Given the description of an element on the screen output the (x, y) to click on. 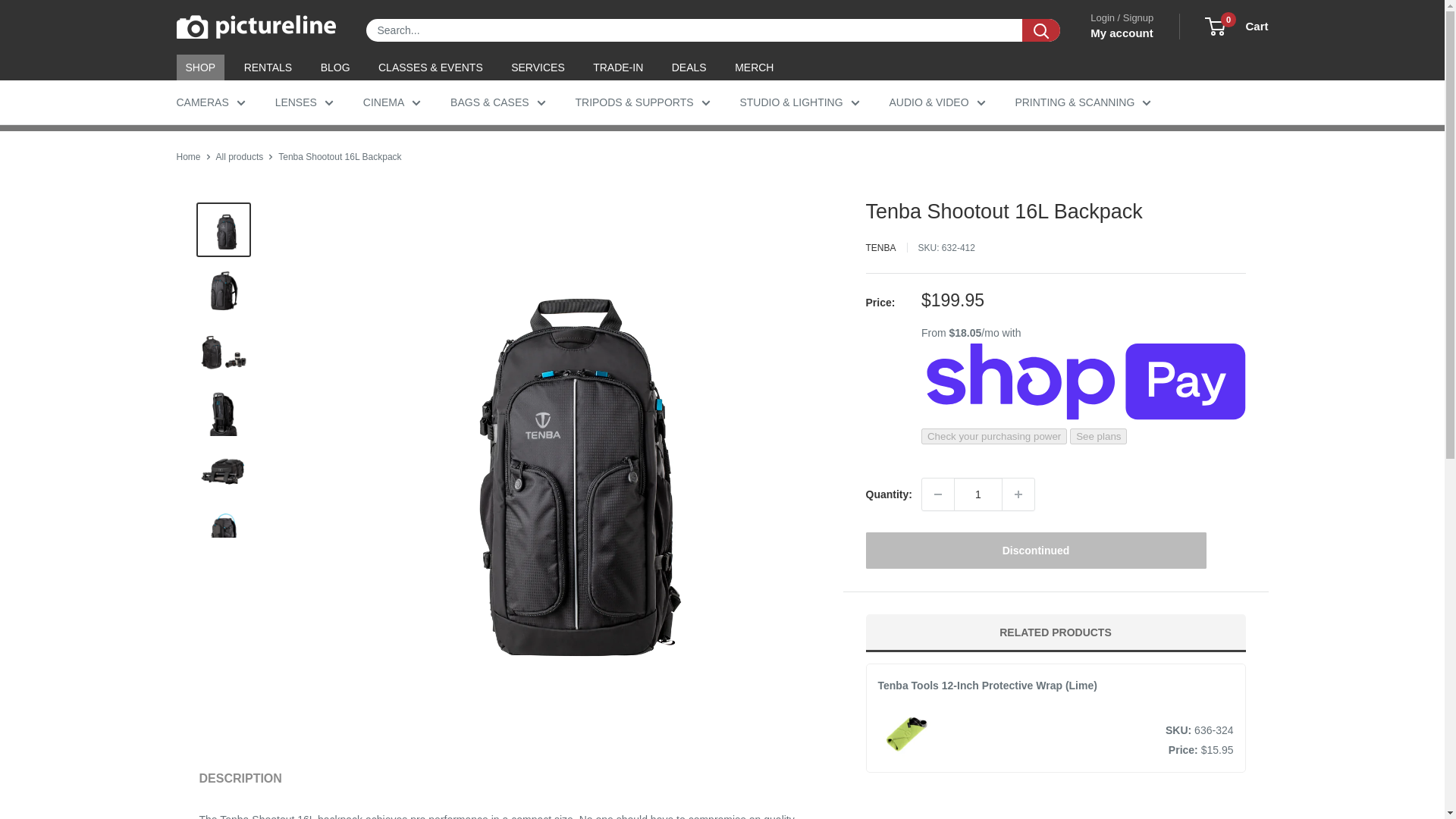
1 (978, 494)
Increase quantity by 1 (1018, 494)
Decrease quantity by 1 (937, 494)
